Given the description of an element on the screen output the (x, y) to click on. 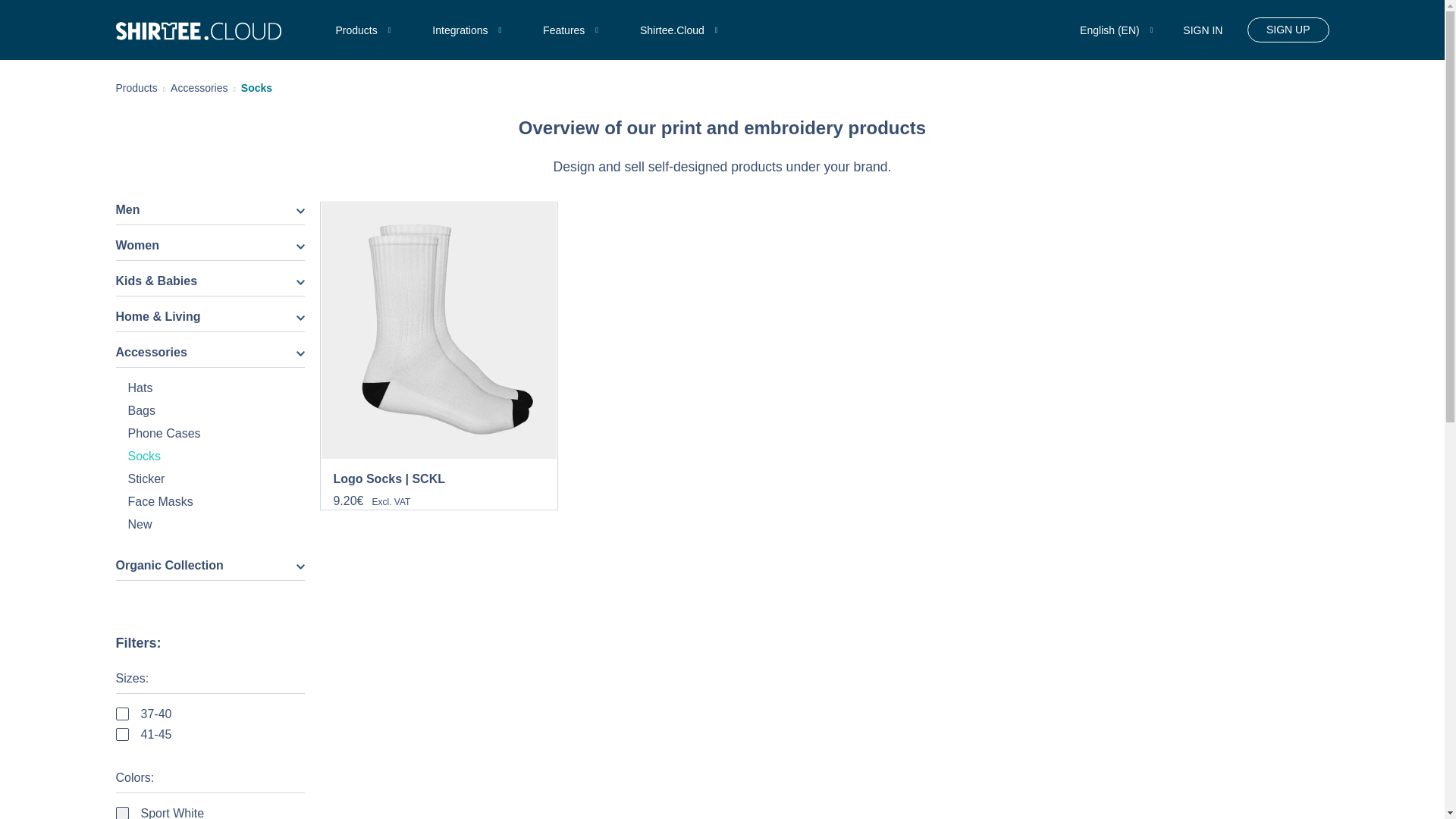
Products (136, 88)
Products (363, 30)
